Given the description of an element on the screen output the (x, y) to click on. 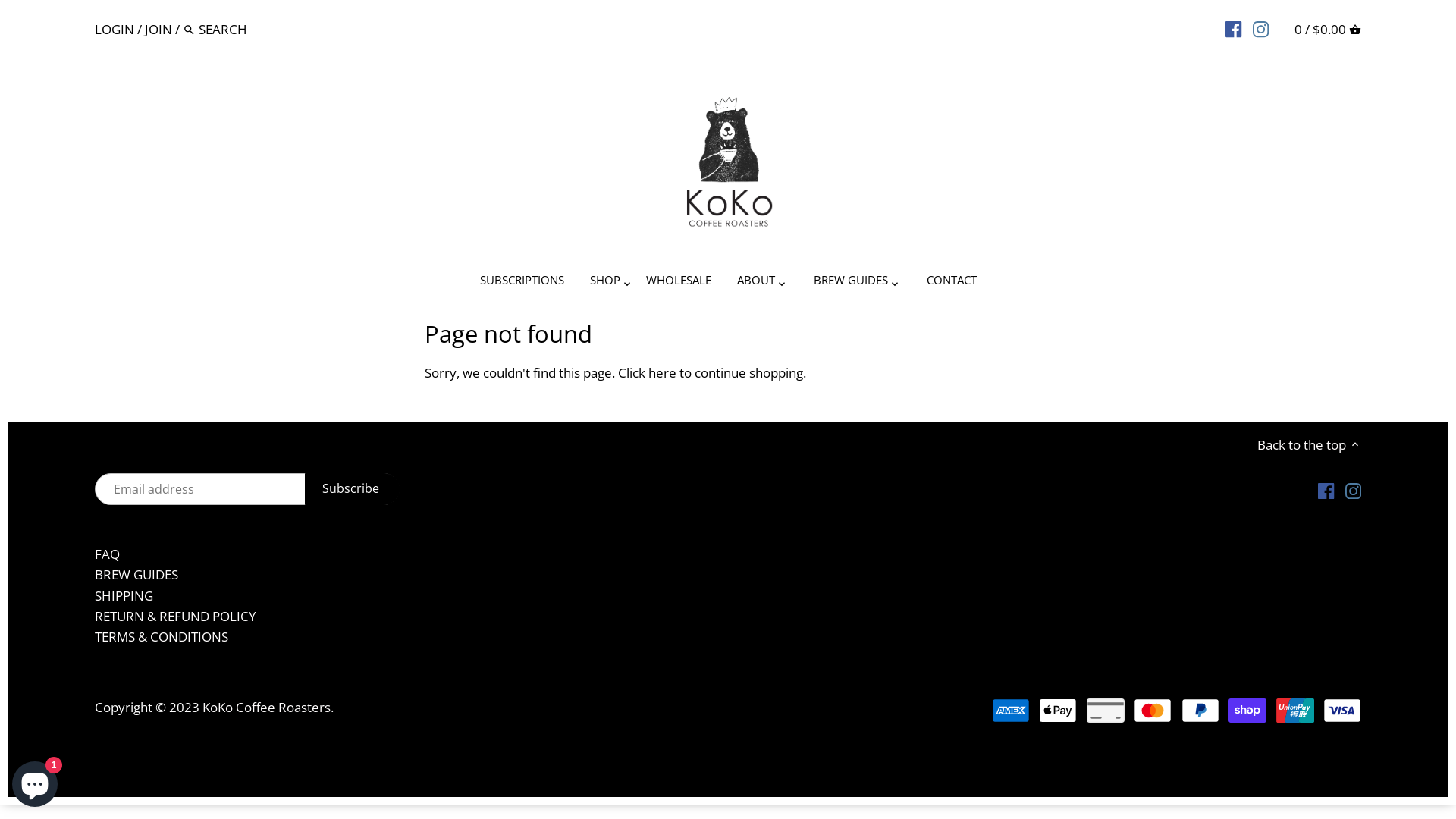
Facebook Element type: text (1325, 489)
ABOUT Element type: text (754, 282)
Search Element type: text (188, 29)
BREW GUIDES Element type: text (136, 574)
Shopify online store chat Element type: hover (34, 780)
SHOP Element type: text (603, 282)
CONTACT Element type: text (950, 282)
Click here Element type: text (647, 372)
LOGIN Element type: text (114, 28)
KoKo Coffee Roasters Element type: text (266, 706)
0 / $0.00 CART Element type: text (1327, 28)
FACEBOOK Element type: text (1233, 27)
INSTAGRAM Element type: text (1260, 27)
SHIPPING Element type: text (123, 595)
TERMS & CONDITIONS Element type: text (161, 636)
FAQ Element type: text (106, 553)
BREW GUIDES Element type: text (850, 282)
Back to the top Element type: text (1309, 443)
WHOLESALE Element type: text (677, 282)
Subscribe  Element type: text (352, 489)
SUBSCRIPTIONS Element type: text (521, 282)
Instagram Element type: text (1353, 489)
RETURN & REFUND POLICY Element type: text (175, 615)
JOIN Element type: text (158, 28)
